Given the description of an element on the screen output the (x, y) to click on. 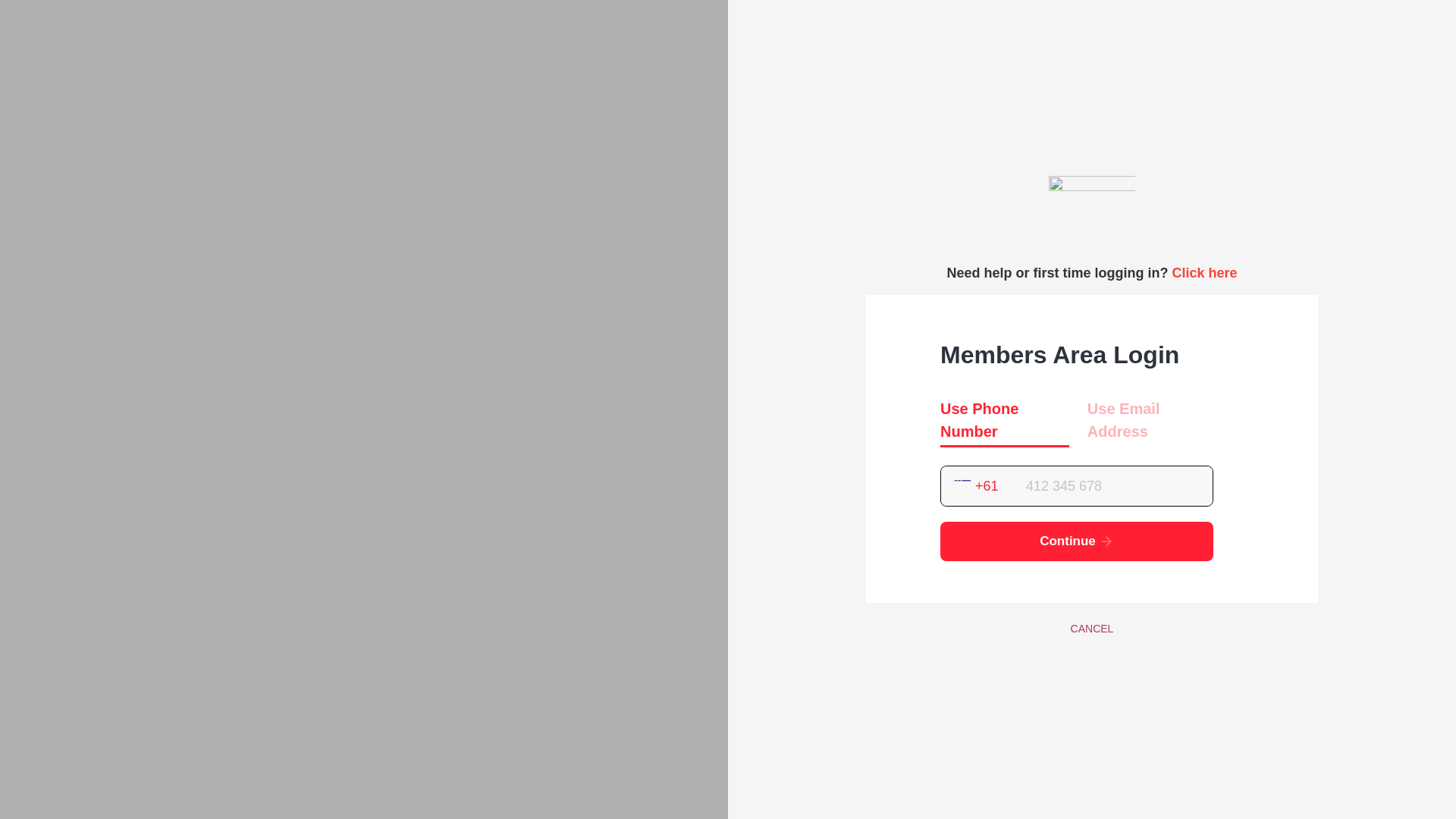
Click here (1204, 272)
CANCEL (1092, 628)
Continue (1076, 541)
